Given the description of an element on the screen output the (x, y) to click on. 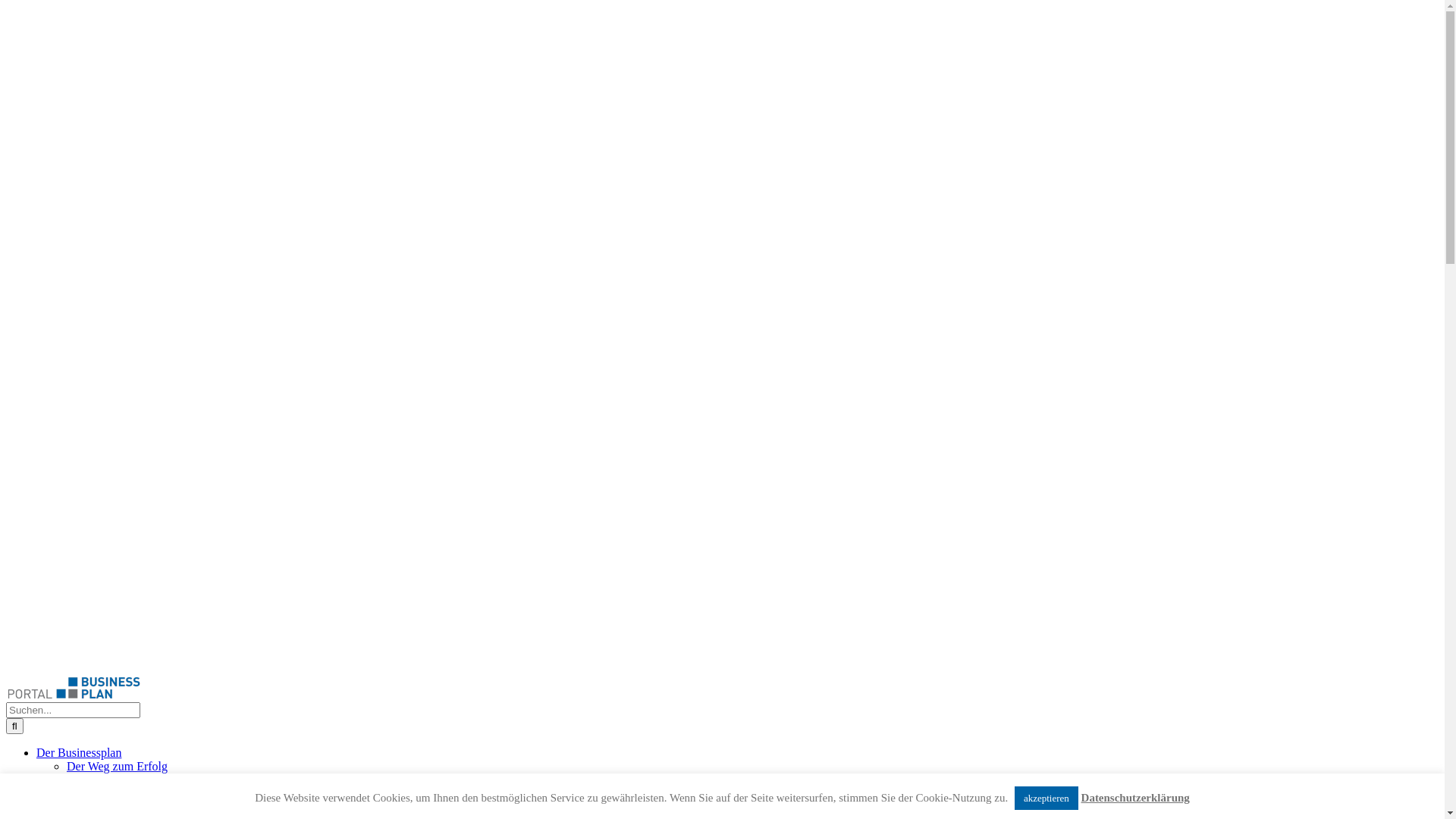
Der Businessplan Element type: text (78, 752)
akzeptieren Element type: text (1046, 797)
Der fundierte Inhalt Element type: text (114, 779)
Der Umgang mit Banken Element type: text (127, 793)
Zum Inhalt springen Element type: text (5, 5)
Der Weg zum Erfolg Element type: text (116, 765)
